Given the description of an element on the screen output the (x, y) to click on. 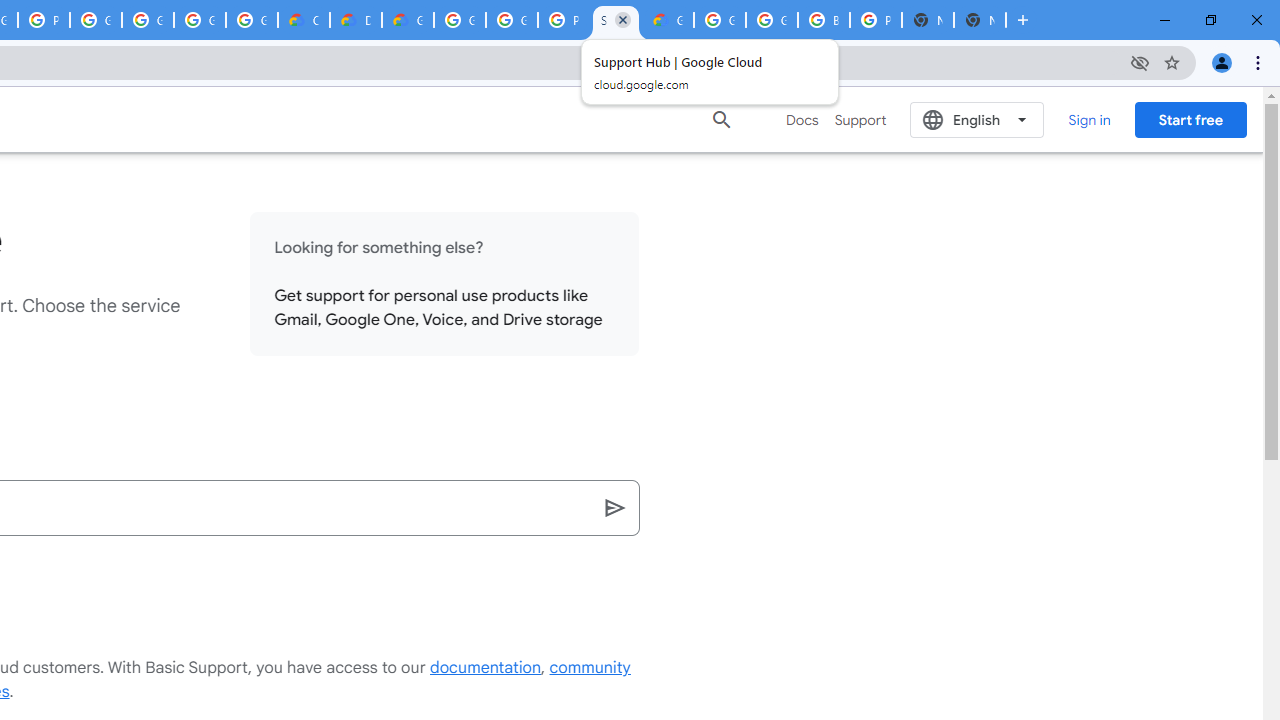
Support Hub | Google Cloud (616, 20)
Google Cloud Platform (511, 20)
Docs (802, 119)
documentation (485, 668)
Customer Care | Google Cloud (303, 20)
Gemini for Business and Developers | Google Cloud (407, 20)
New Tab (979, 20)
Google Cloud Platform (771, 20)
